Given the description of an element on the screen output the (x, y) to click on. 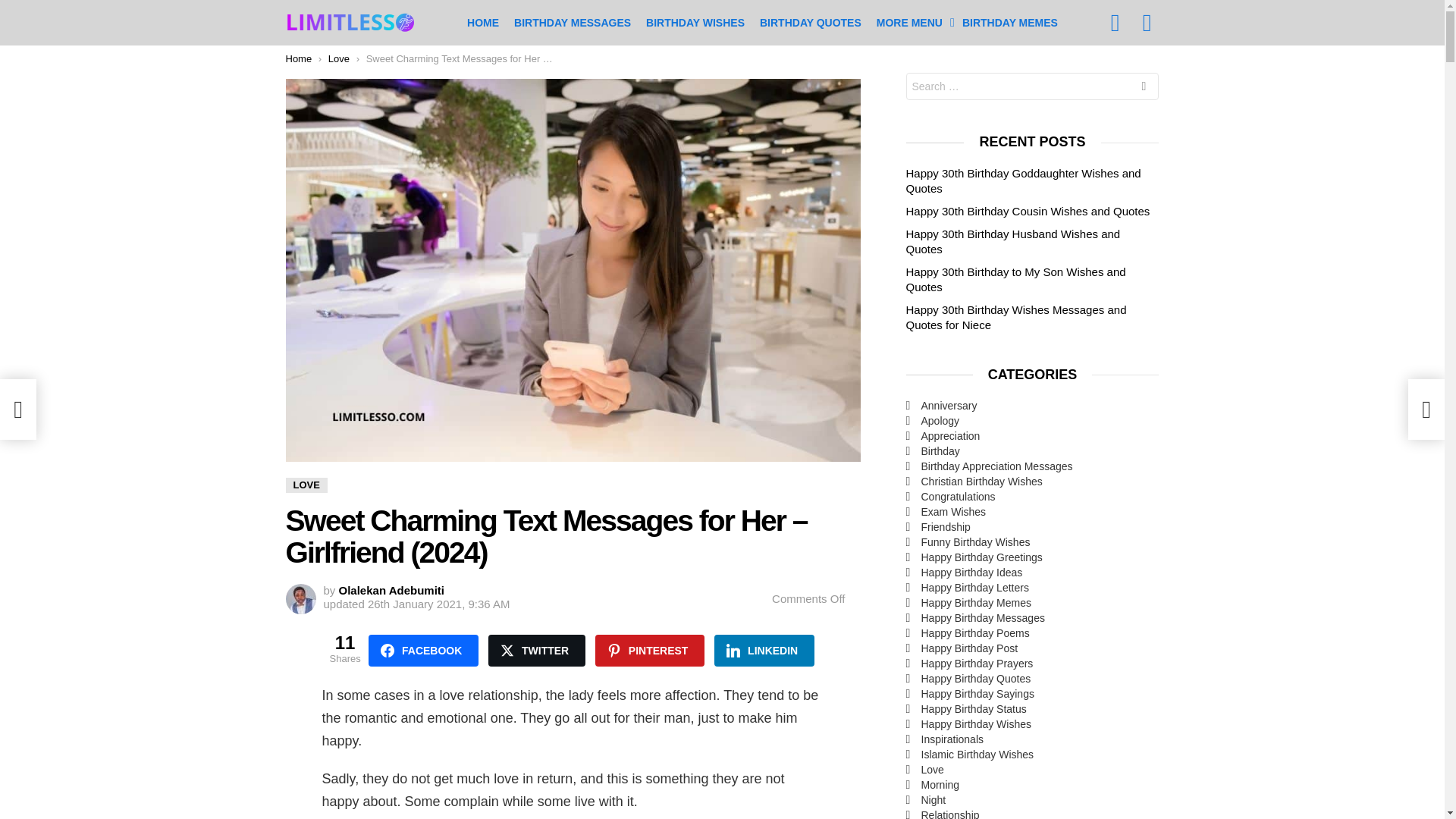
BIRTHDAY MESSAGES (572, 22)
Share on LinkedIn (763, 650)
Home (298, 58)
TWITTER (536, 650)
BIRTHDAY MEMES (1010, 22)
Share on Twitter (536, 650)
BIRTHDAY WISHES (695, 22)
FACEBOOK (423, 650)
BIRTHDAY QUOTES (810, 22)
MORE MENU (912, 22)
